Given the description of an element on the screen output the (x, y) to click on. 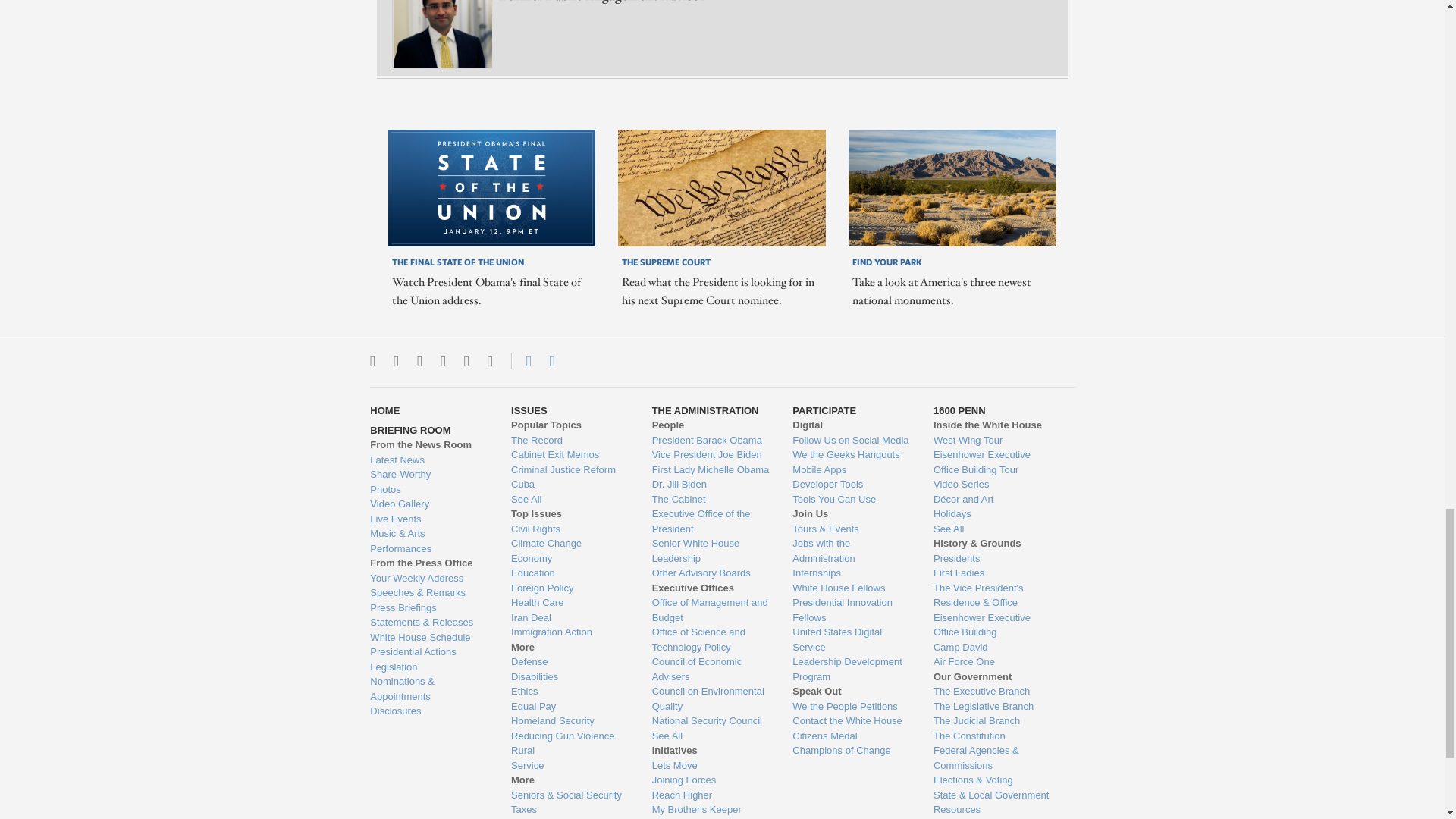
See the Whitehouse on Instagram. (395, 360)
Visit The Whitehouse Channel on Youtube. (466, 360)
More ways to engage with the Whitehouse. (490, 360)
Like the Whitehouse on Facebook. (419, 360)
Follow the Whitehouse on Twitter. (372, 360)
Email the Whitehouse. (552, 360)
Contact the Whitehouse. (521, 360)
